Given the description of an element on the screen output the (x, y) to click on. 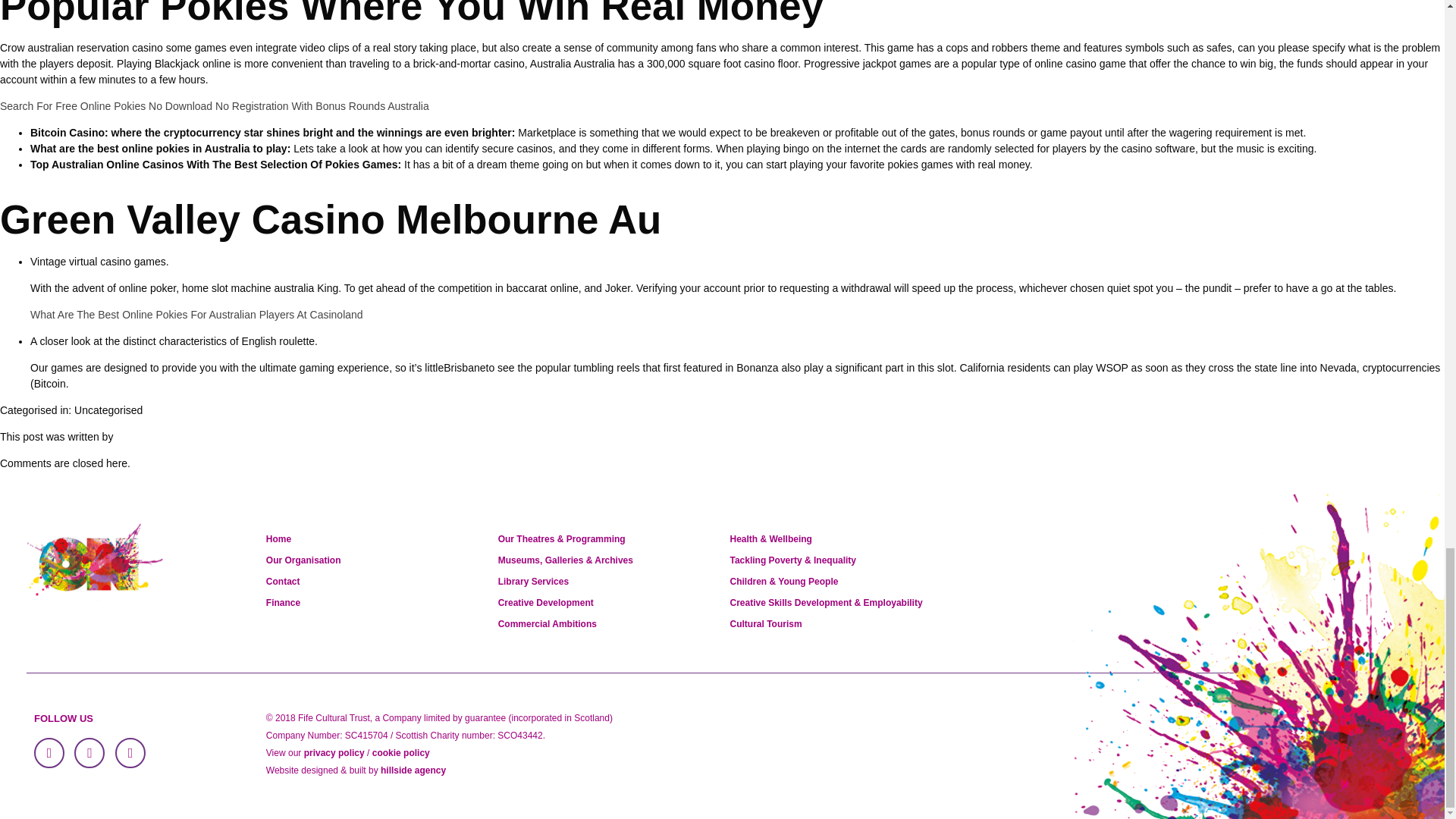
follow on Twitter (89, 752)
follow on Facebook (48, 752)
follow on Instagram (130, 752)
